Given the description of an element on the screen output the (x, y) to click on. 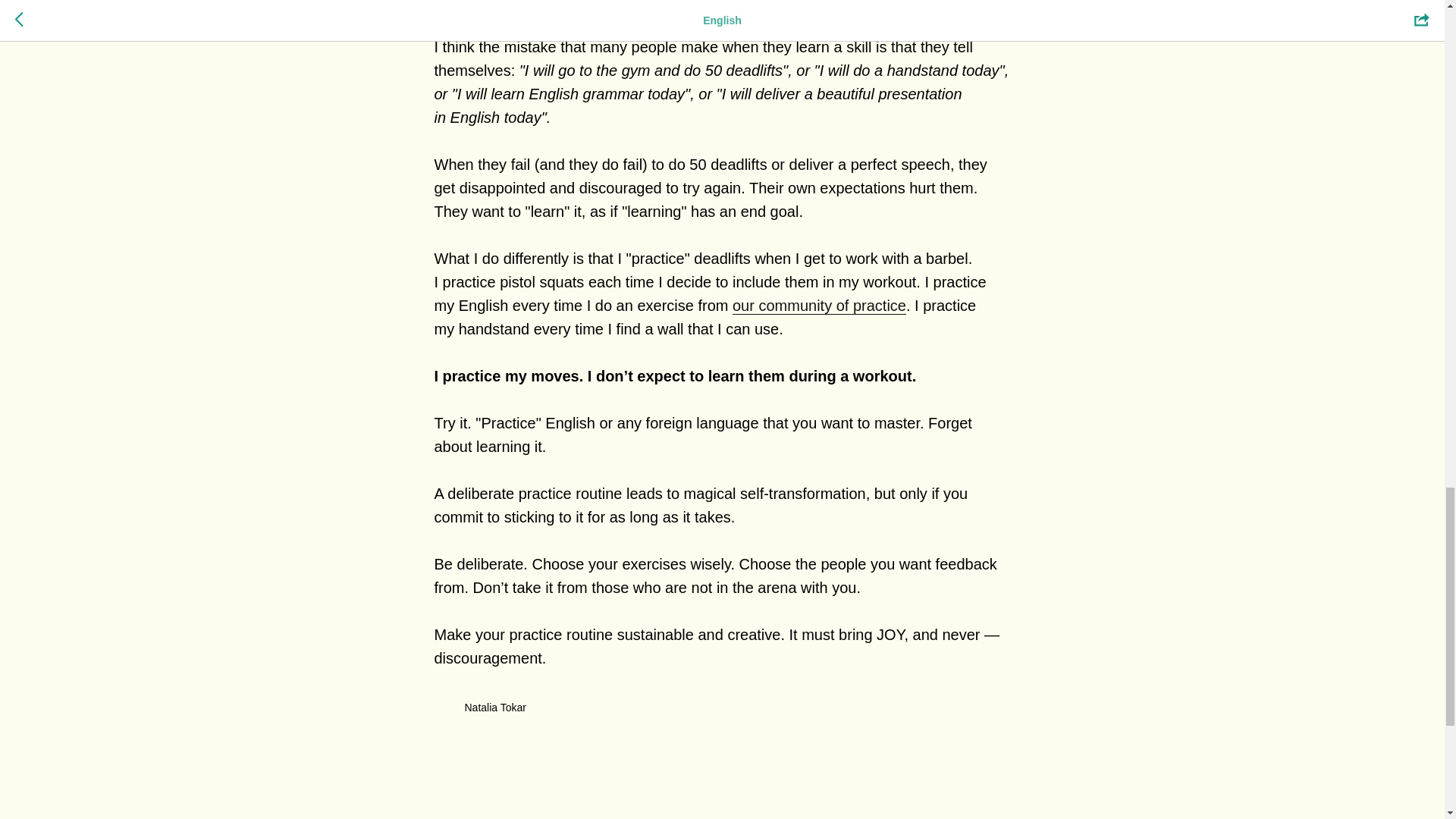
Natalia Tokar (721, 707)
our community of practice (818, 305)
